Given the description of an element on the screen output the (x, y) to click on. 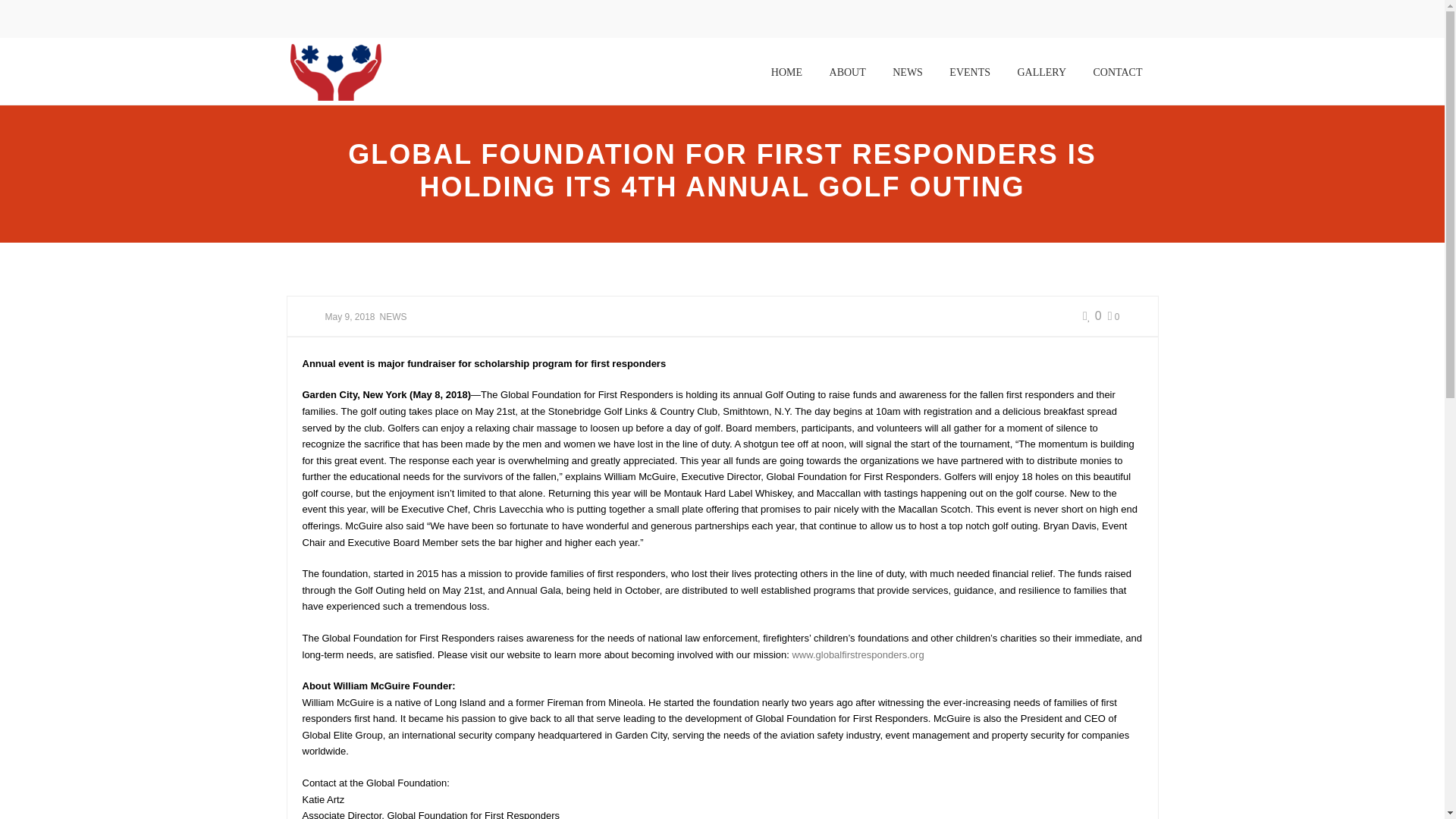
NEWS (907, 71)
NEWS (393, 317)
May 9, 2018 (349, 317)
Global Foundation for First Responders (334, 71)
GALLERY (1041, 71)
HOME (786, 71)
www.globalfirstresponders.org (857, 654)
CONTACT (1117, 71)
ABOUT (847, 71)
EVENTS (969, 71)
